Given the description of an element on the screen output the (x, y) to click on. 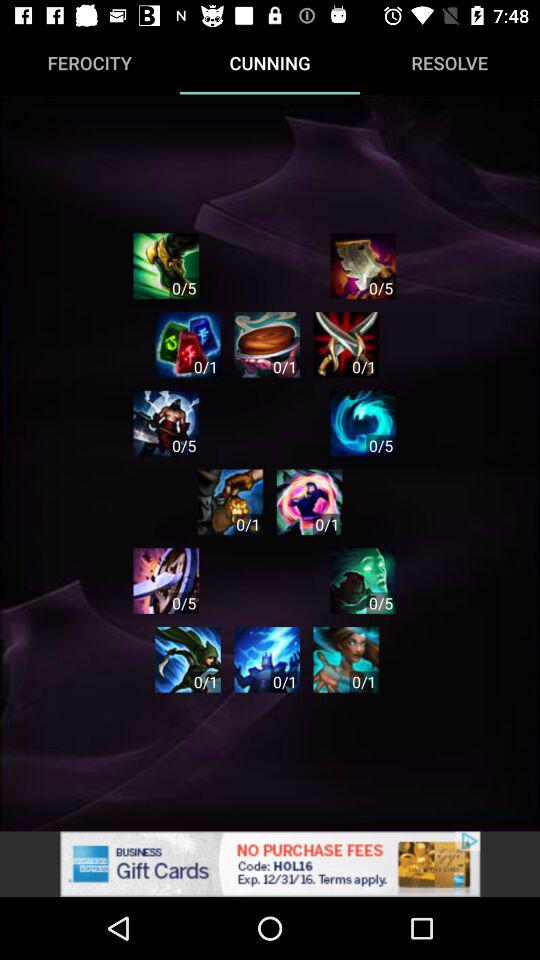
select image (166, 423)
